Given the description of an element on the screen output the (x, y) to click on. 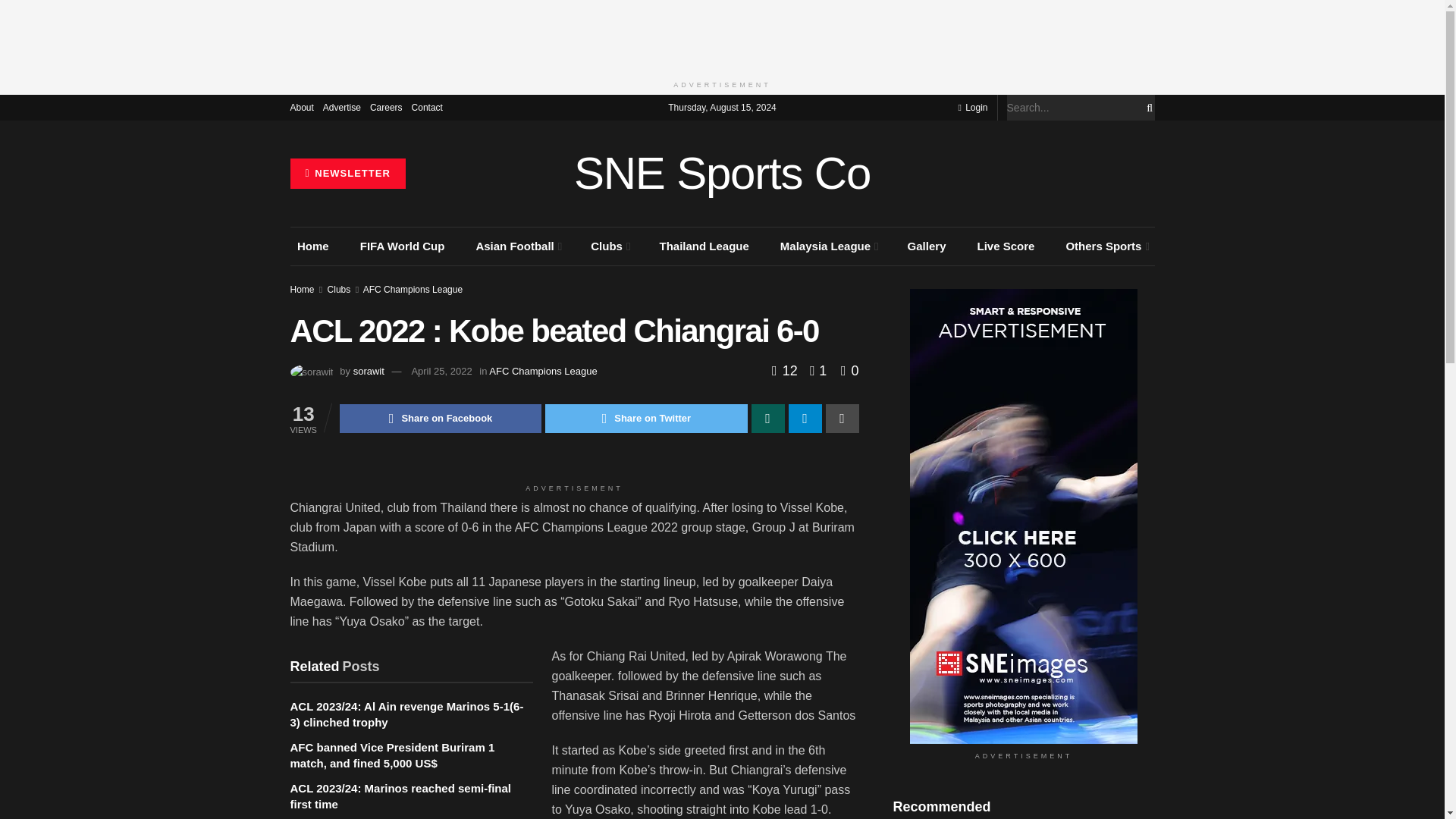
Login (972, 107)
Contact (427, 107)
SNE Sports Co (721, 173)
Asian Football (517, 246)
Careers (386, 107)
Advertise (342, 107)
FIFA World Cup (401, 246)
NEWSLETTER (346, 173)
Home (312, 246)
About (301, 107)
